Given the description of an element on the screen output the (x, y) to click on. 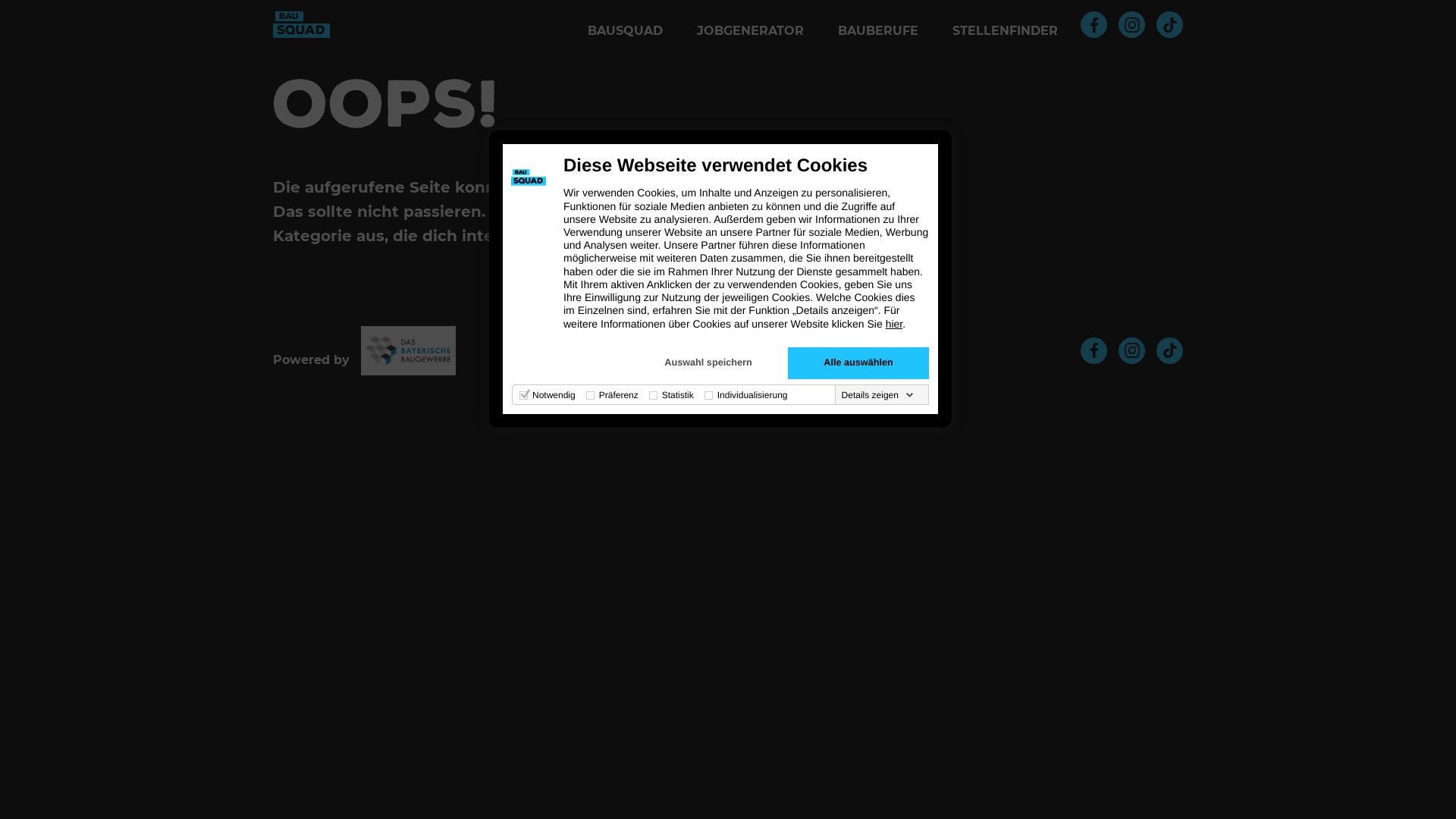
Datenschutz Element type: text (671, 350)
BAUSQUAD Element type: text (624, 29)
Impressum Element type: text (560, 350)
BAUBERUFE Element type: text (877, 29)
hier Element type: text (894, 323)
Kontakt Element type: text (771, 350)
Details zeigen Element type: text (877, 395)
Auswahl speichern Element type: text (707, 362)
STELLENFINDER Element type: text (1004, 29)
JOBGENERATOR Element type: text (749, 29)
Skip to content Element type: text (0, 49)
